Given the description of an element on the screen output the (x, y) to click on. 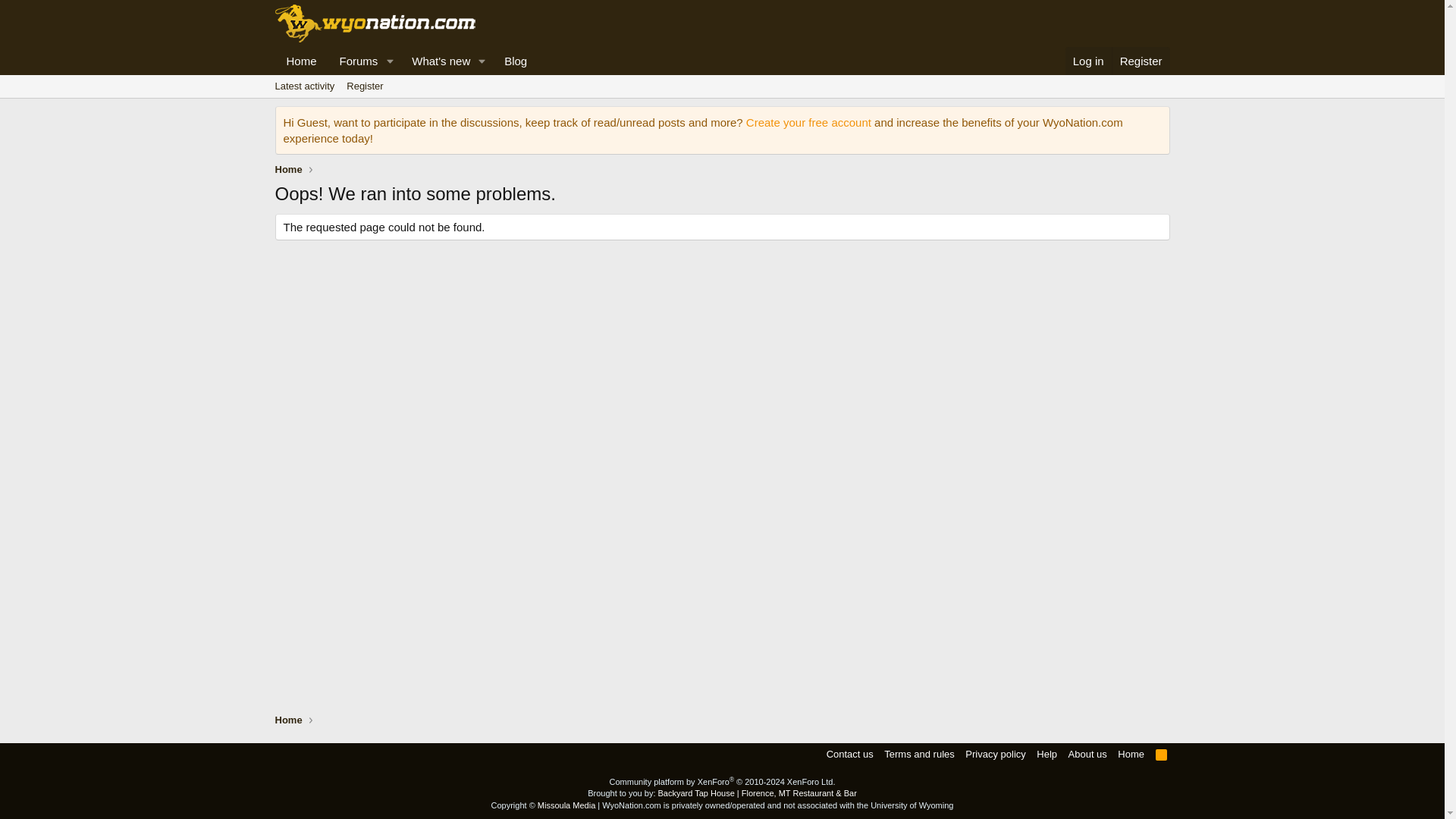
Log in (1088, 60)
Missoula Media (566, 804)
Home (406, 77)
Register (1131, 753)
Register (1141, 60)
RSS (364, 86)
Help (1161, 753)
Forums (1046, 753)
Home (354, 60)
Home (301, 60)
Home (406, 60)
Contact us (287, 169)
Latest activity (287, 720)
